Given the description of an element on the screen output the (x, y) to click on. 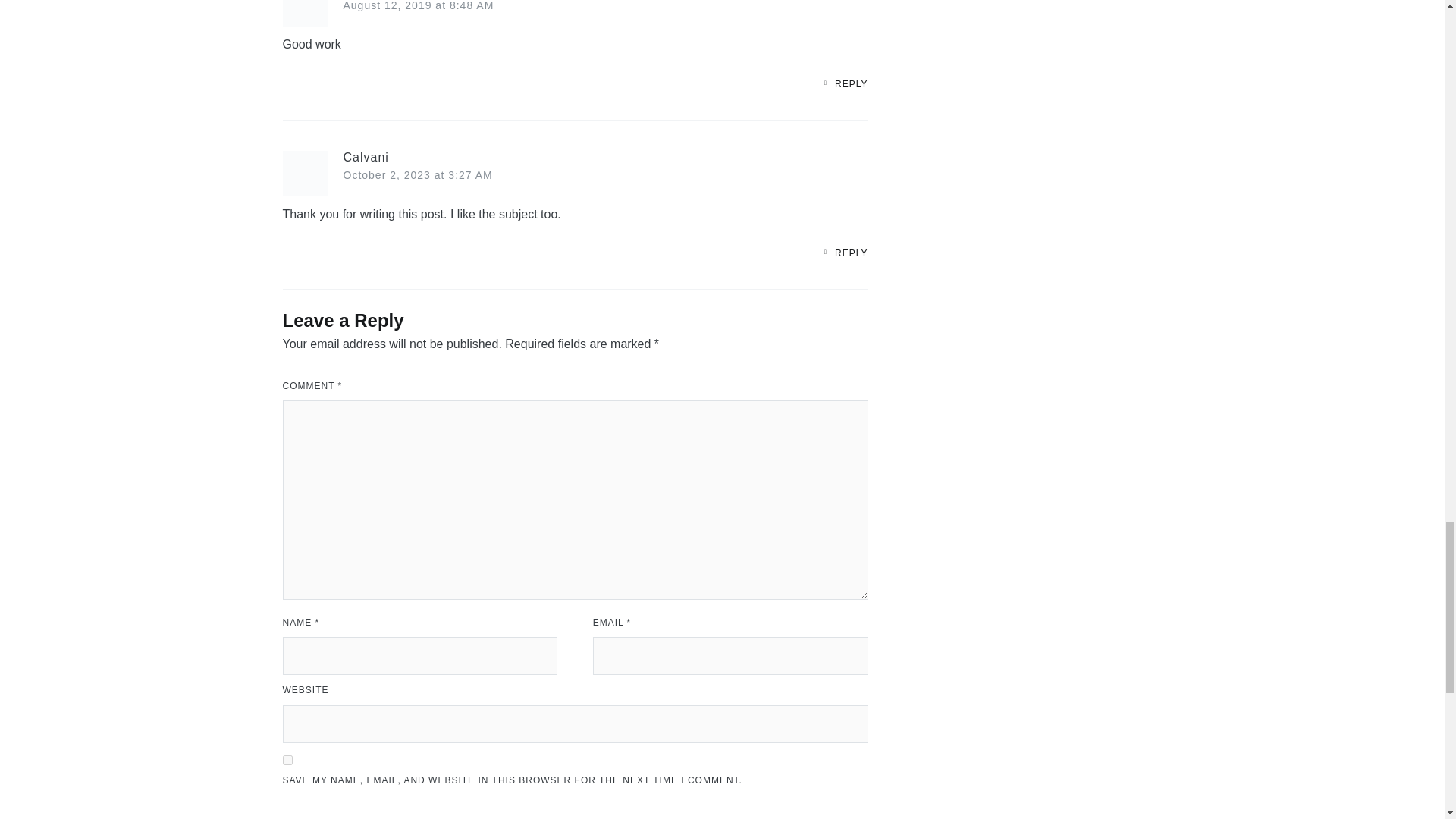
yes (287, 759)
